Given the description of an element on the screen output the (x, y) to click on. 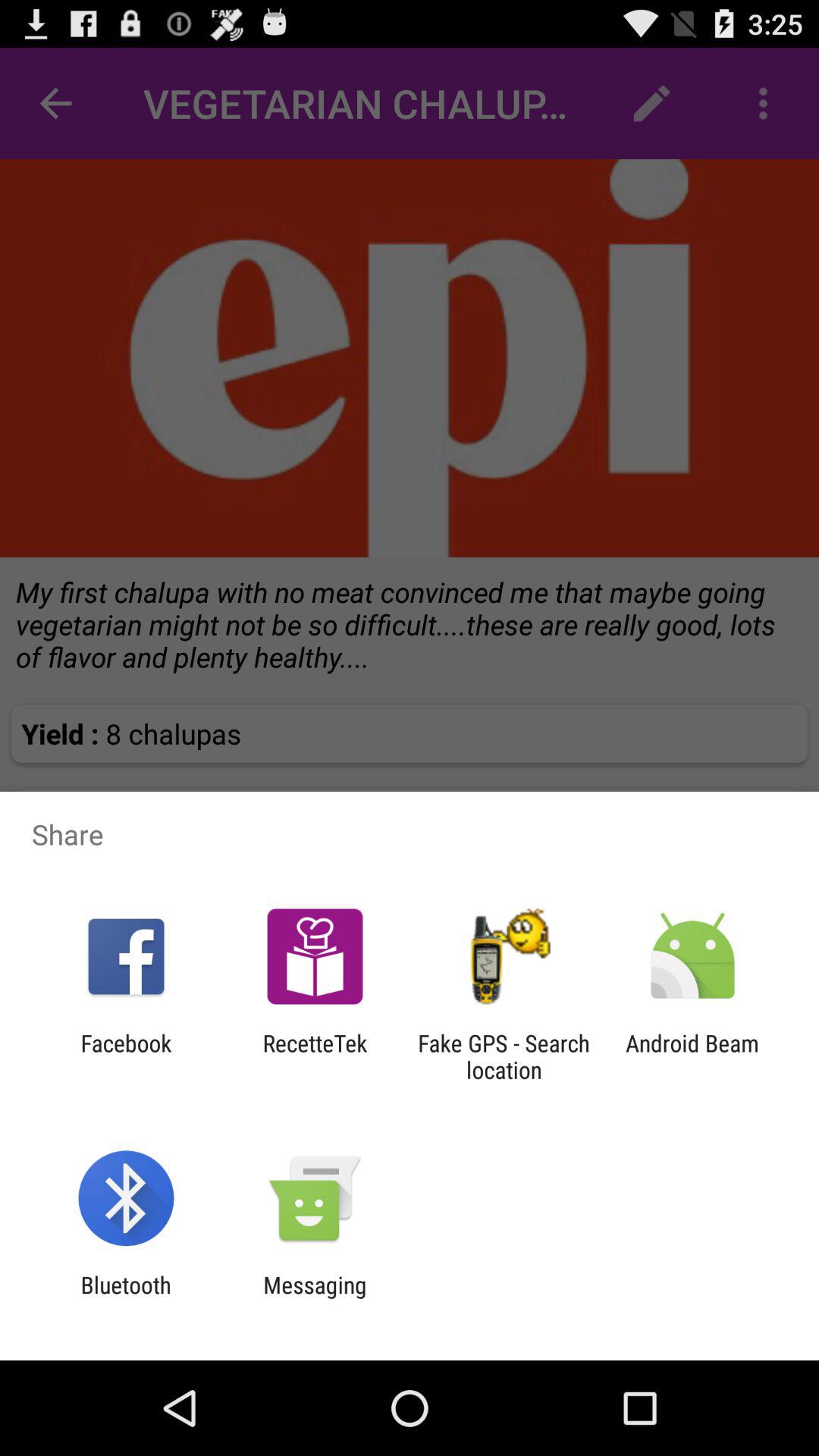
open item next to the fake gps search app (314, 1056)
